Given the description of an element on the screen output the (x, y) to click on. 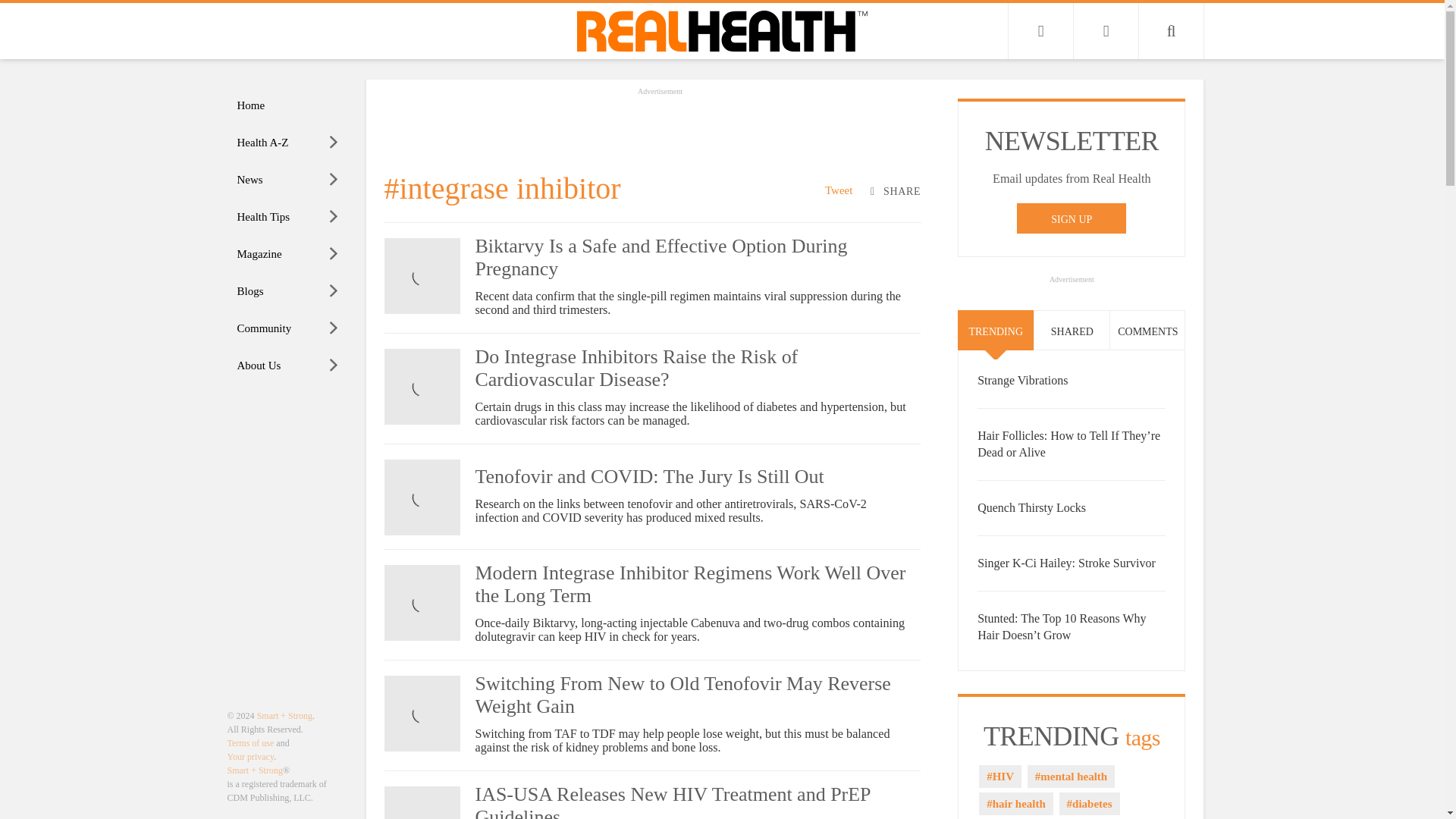
Health A-Z (288, 142)
Health Tips (288, 217)
Magazine (288, 253)
News (288, 180)
Home (288, 105)
